Given the description of an element on the screen output the (x, y) to click on. 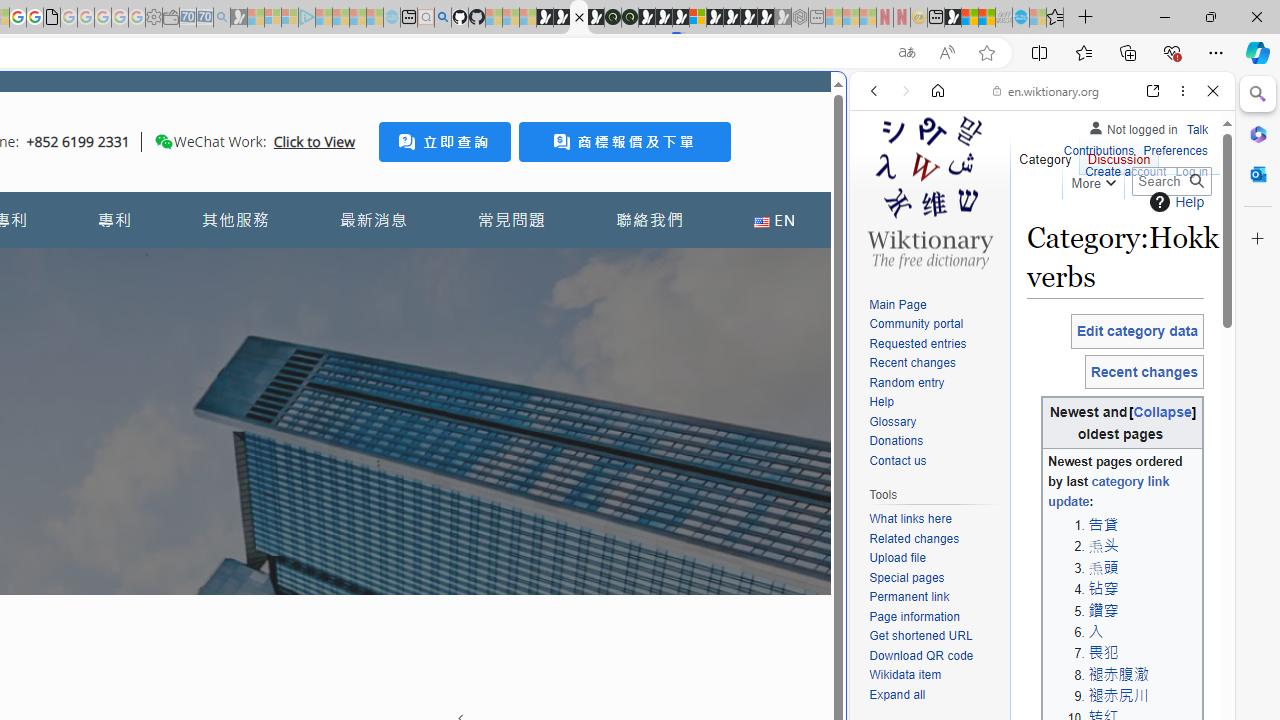
category link update (1108, 492)
Contact us (897, 460)
Edit category data (1137, 331)
Talk (1197, 126)
Play Zoo Boom in your browser | Games from Microsoft Start (561, 17)
Page information (914, 616)
